Given the description of an element on the screen output the (x, y) to click on. 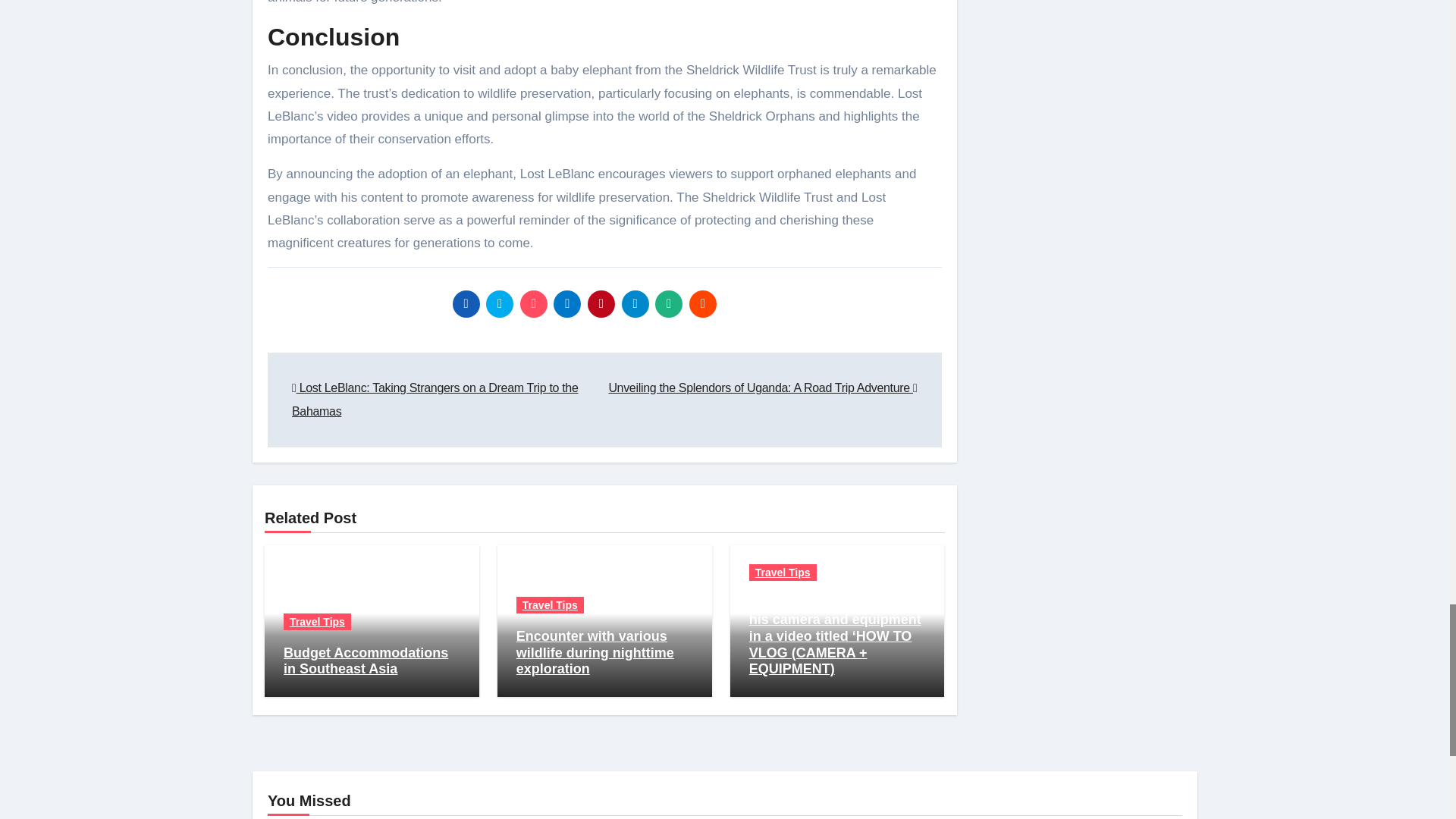
Unveiling the Splendors of Uganda: A Road Trip Adventure (762, 387)
Permalink to: Budget Accommodations in Southeast Asia (365, 661)
